Given the description of an element on the screen output the (x, y) to click on. 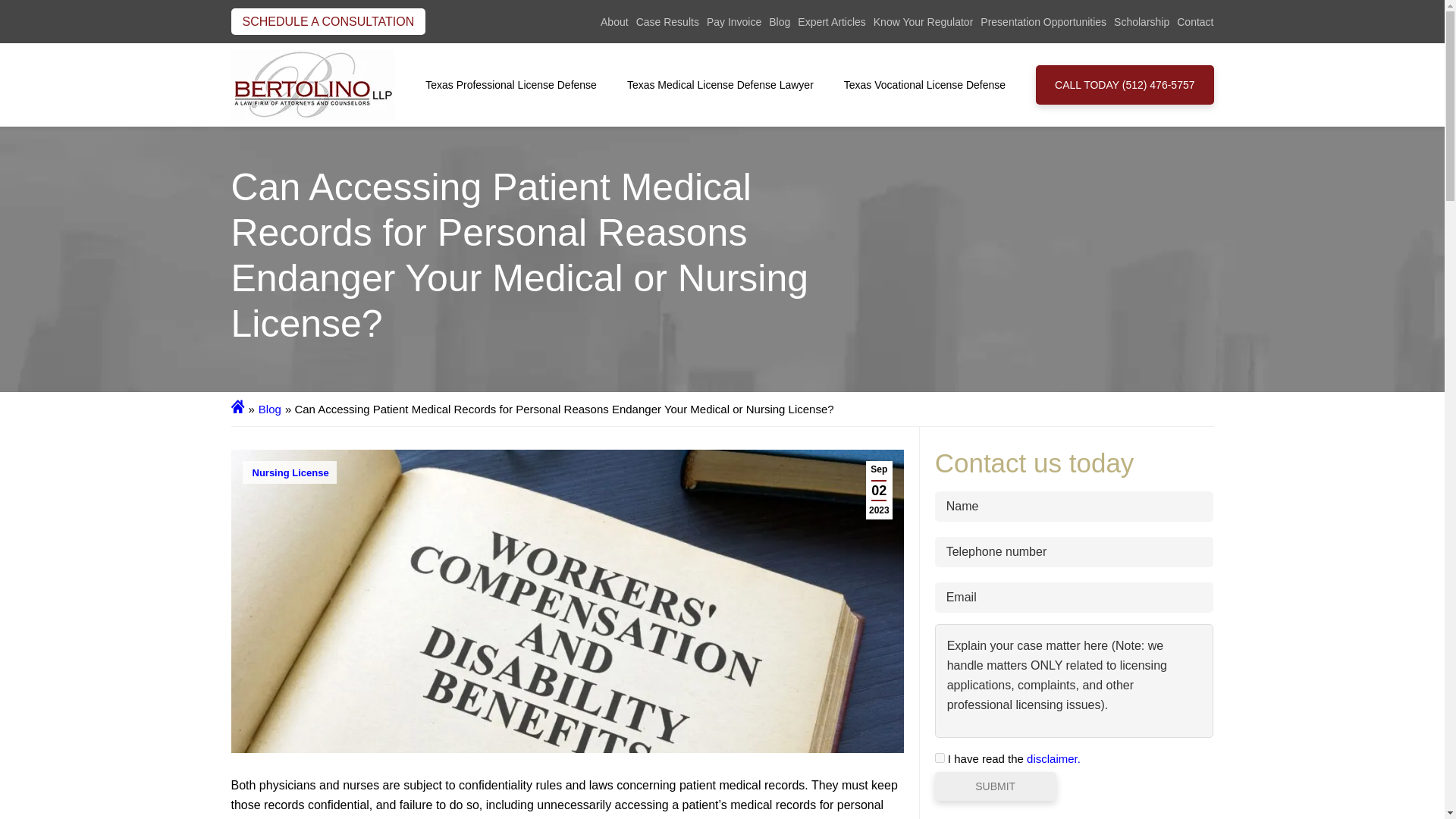
Presentation Opportunities (1042, 21)
Texas Vocational License Defense (930, 84)
Texas Medical License Defense Lawyer (726, 84)
About (613, 21)
Expert Articles (830, 21)
Texas Professional License Defense (516, 84)
Case Results (667, 21)
Submit (995, 786)
SCHEDULE A CONSULTATION (327, 21)
Bertolino LLP Law Firm (312, 84)
